Given the description of an element on the screen output the (x, y) to click on. 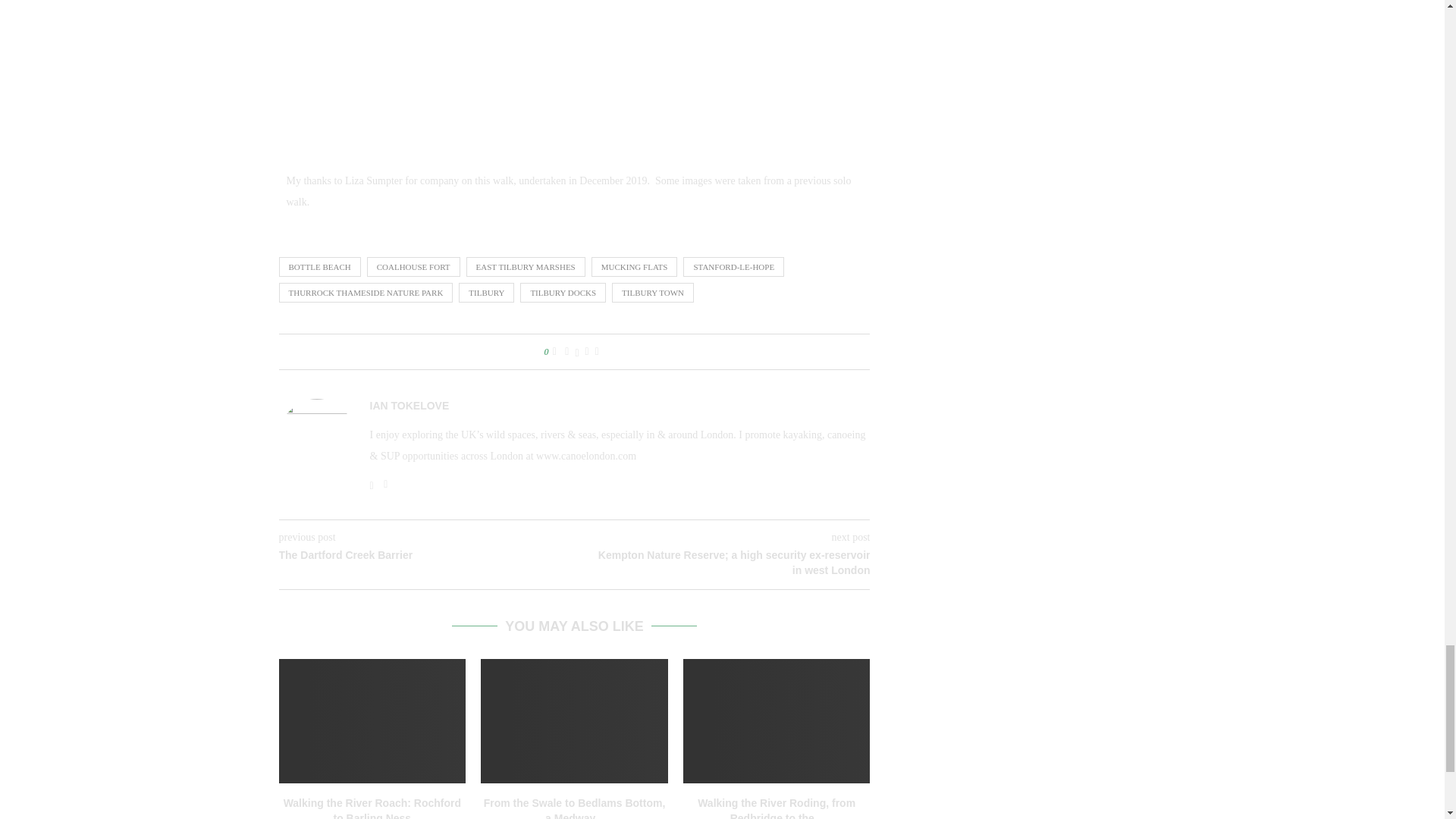
TILBURY TOWN (652, 292)
STANFORD-LE-HOPE (733, 266)
Walking the River Roach: Rochford to Barling Ness (372, 720)
MUCKING FLATS (634, 266)
THURROCK THAMESIDE NATURE PARK (365, 292)
Author Ian Tokelove (409, 405)
TILBURY DOCKS (562, 292)
From the Swale to Bedlams Bottom, a Medway Marshes walk (574, 720)
TILBURY (485, 292)
COALHOUSE FORT (413, 266)
